Given the description of an element on the screen output the (x, y) to click on. 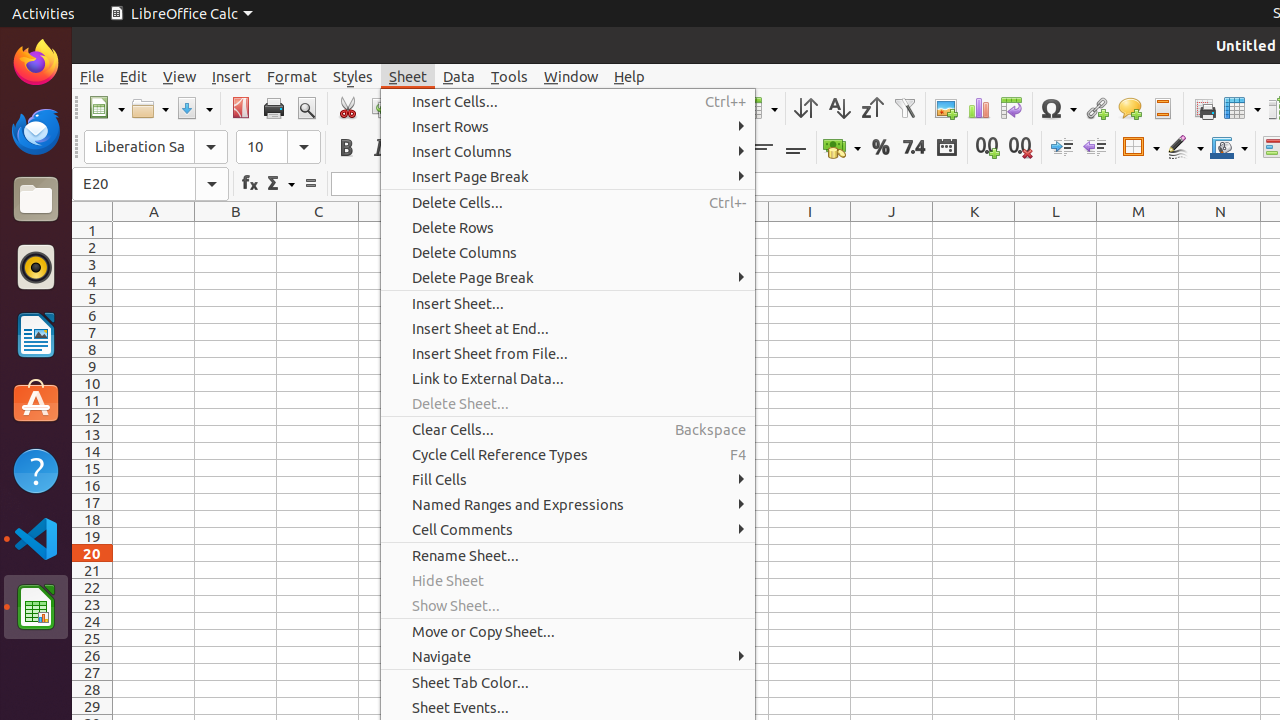
Insert Columns Element type: menu (568, 151)
Format Element type: menu (292, 76)
Edit Element type: menu (133, 76)
Insert Cells... Element type: menu-item (568, 101)
LibreOffice Calc Element type: menu (181, 13)
